Given the description of an element on the screen output the (x, y) to click on. 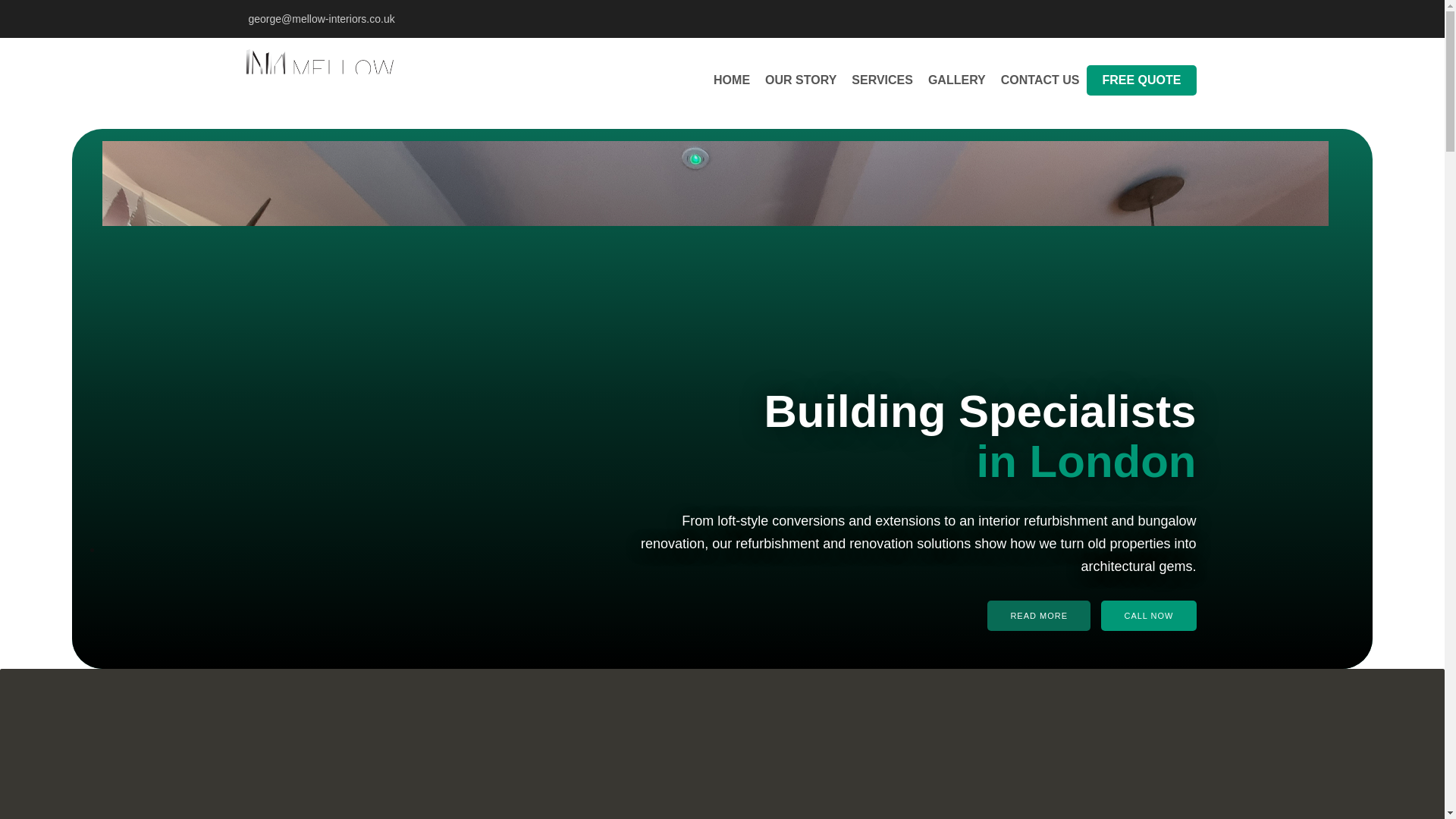
FREE QUOTE (1140, 80)
CONTACT US (1039, 80)
OUR STORY (800, 80)
READ MORE (1038, 615)
CALL NOW (1147, 615)
HOME (731, 80)
SERVICES (882, 80)
GALLERY (956, 80)
